Given the description of an element on the screen output the (x, y) to click on. 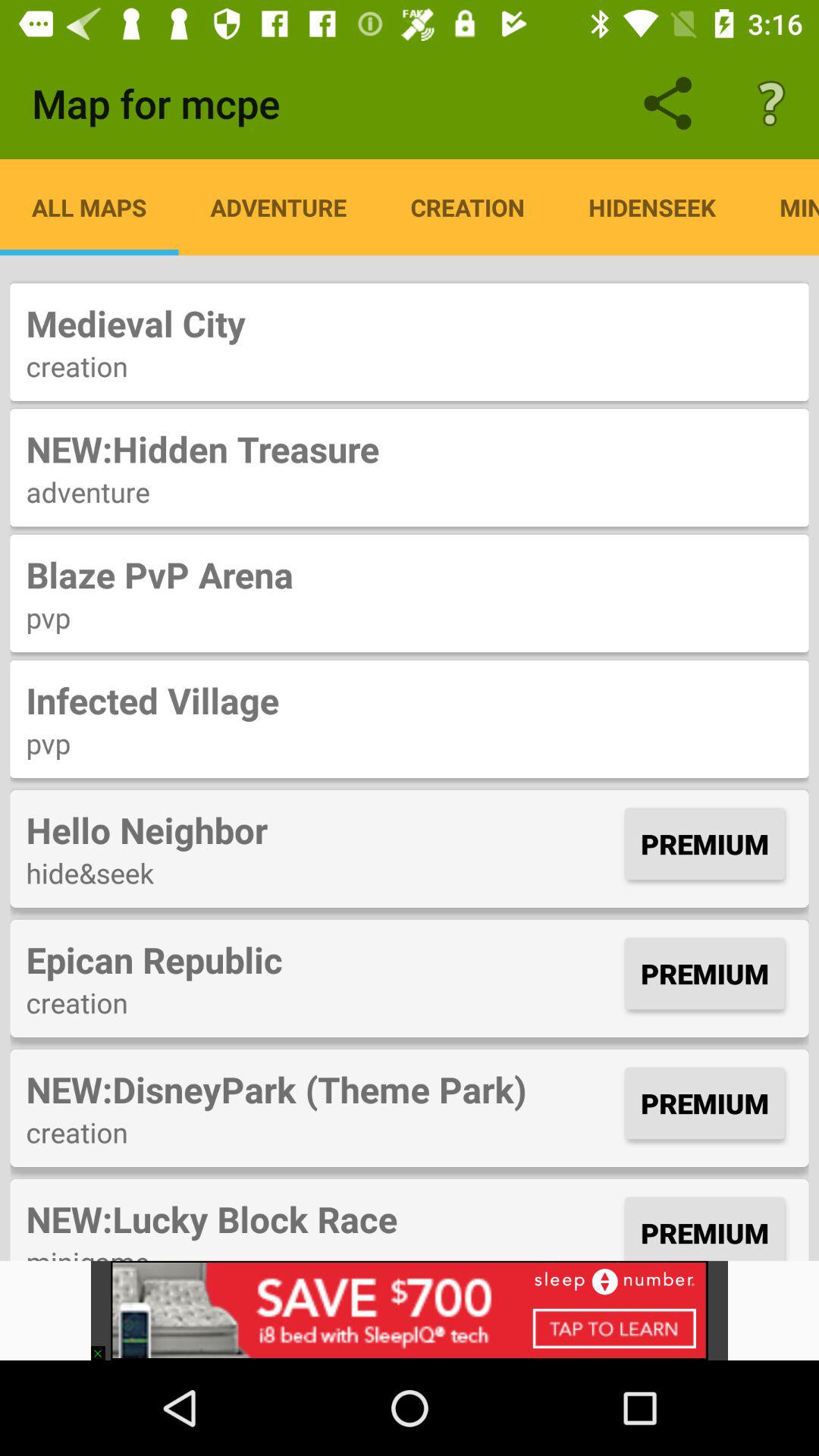
choose the item below hide&seek (321, 959)
